Given the description of an element on the screen output the (x, y) to click on. 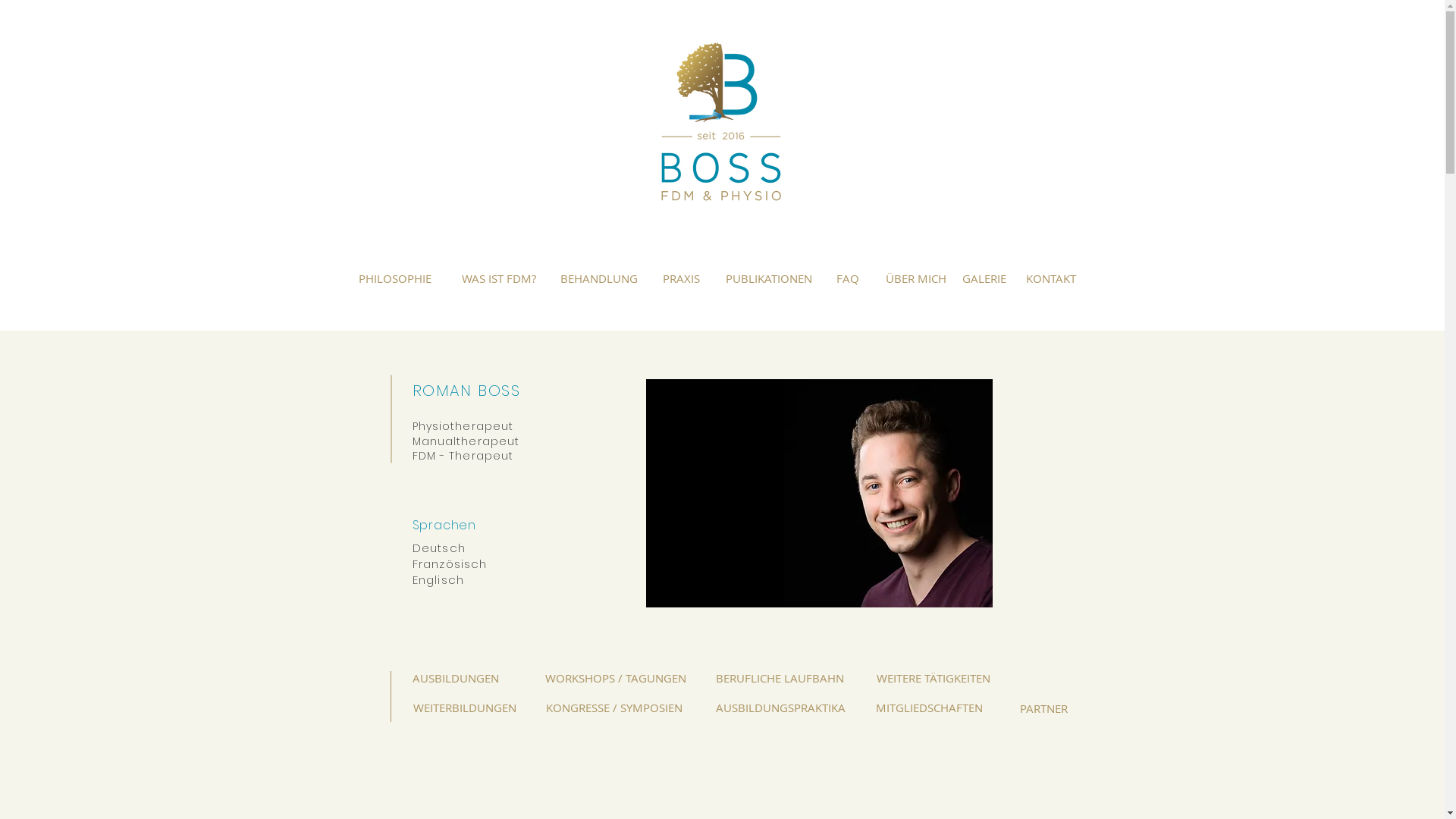
KONTAKT Element type: text (1049, 278)
WORKSHOPS / TAGUNGEN Element type: text (614, 677)
KONGRESSE / SYMPOSIEN Element type: text (613, 707)
PHILOSOPHIE Element type: text (394, 278)
MITGLIEDSCHAFTEN Element type: text (928, 707)
BERUFLICHE LAUFBAHN Element type: text (779, 677)
AUSBILDUNGEN Element type: text (455, 677)
PRAXIS Element type: text (681, 278)
AUSBILDUNGSPRAKTIKA Element type: text (780, 707)
PUBLIKATIONEN Element type: text (767, 278)
GALERIE Element type: text (984, 278)
FAQ Element type: text (847, 278)
BEHANDLUNG Element type: text (599, 278)
WAS IST FDM? Element type: text (498, 278)
PARTNER Element type: text (1043, 708)
WEITERBILDUNGEN Element type: text (464, 707)
